Given the description of an element on the screen output the (x, y) to click on. 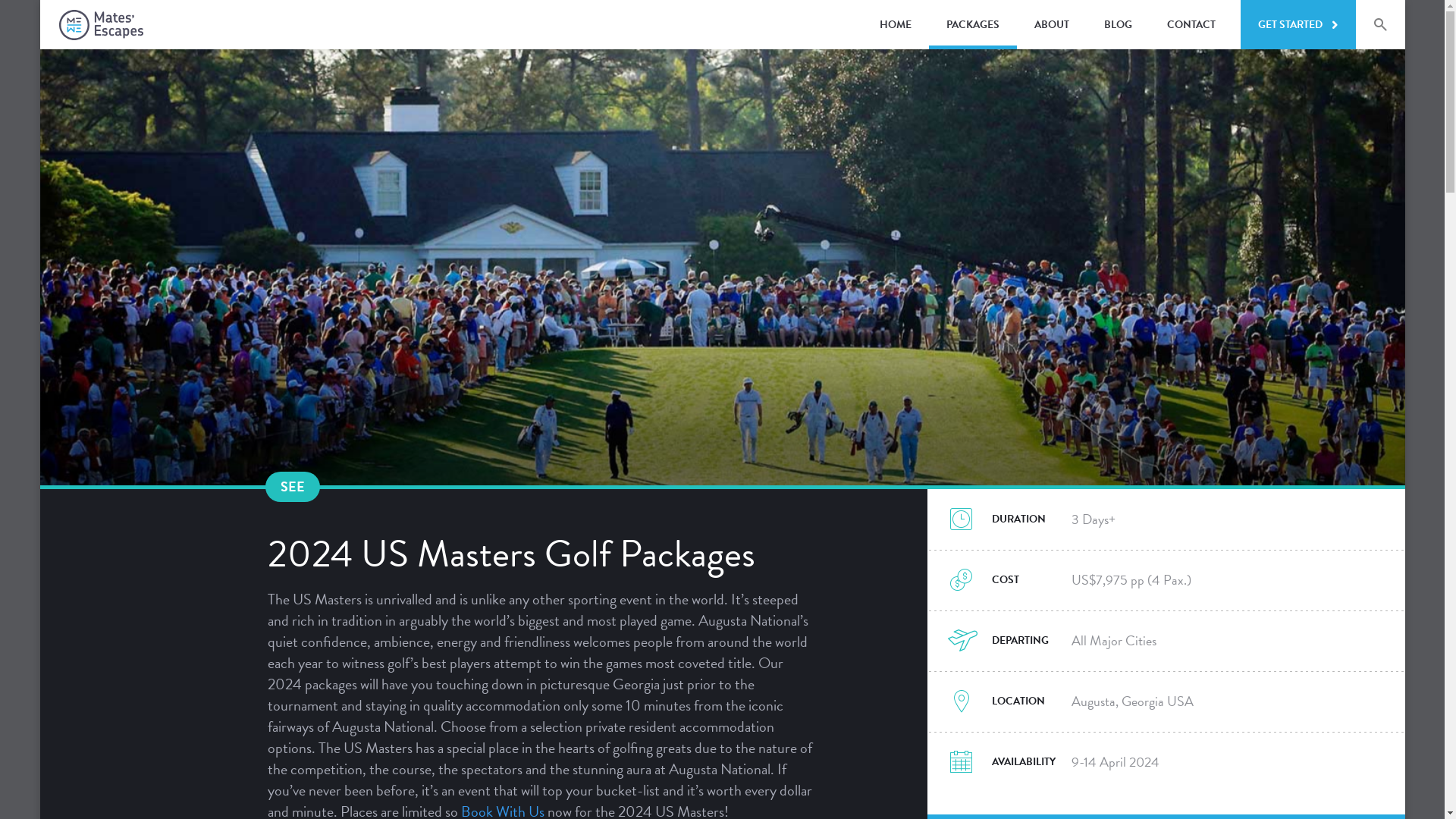
Search Mates' Escapes Element type: hover (1389, 24)
BLOG Element type: text (1116, 24)
Mates' Escapes home page Element type: text (101, 24)
HOME Element type: text (894, 24)
CONTACT Element type: text (1191, 24)
GET STARTED Element type: text (1297, 24)
Open Search field Element type: text (1380, 24)
PACKAGES Element type: text (972, 24)
ABOUT Element type: text (1050, 24)
